Given the description of an element on the screen output the (x, y) to click on. 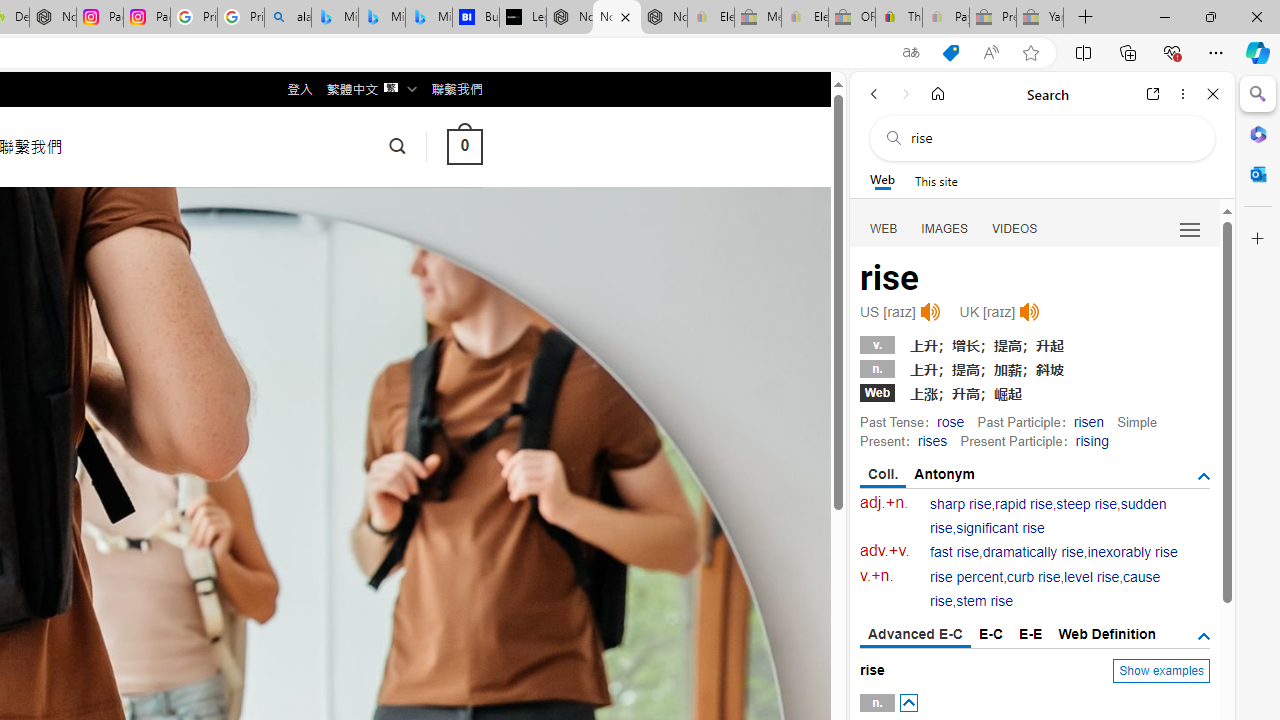
cause rise (1045, 589)
steep rise (1086, 503)
sudden rise (1048, 515)
